Given the description of an element on the screen output the (x, y) to click on. 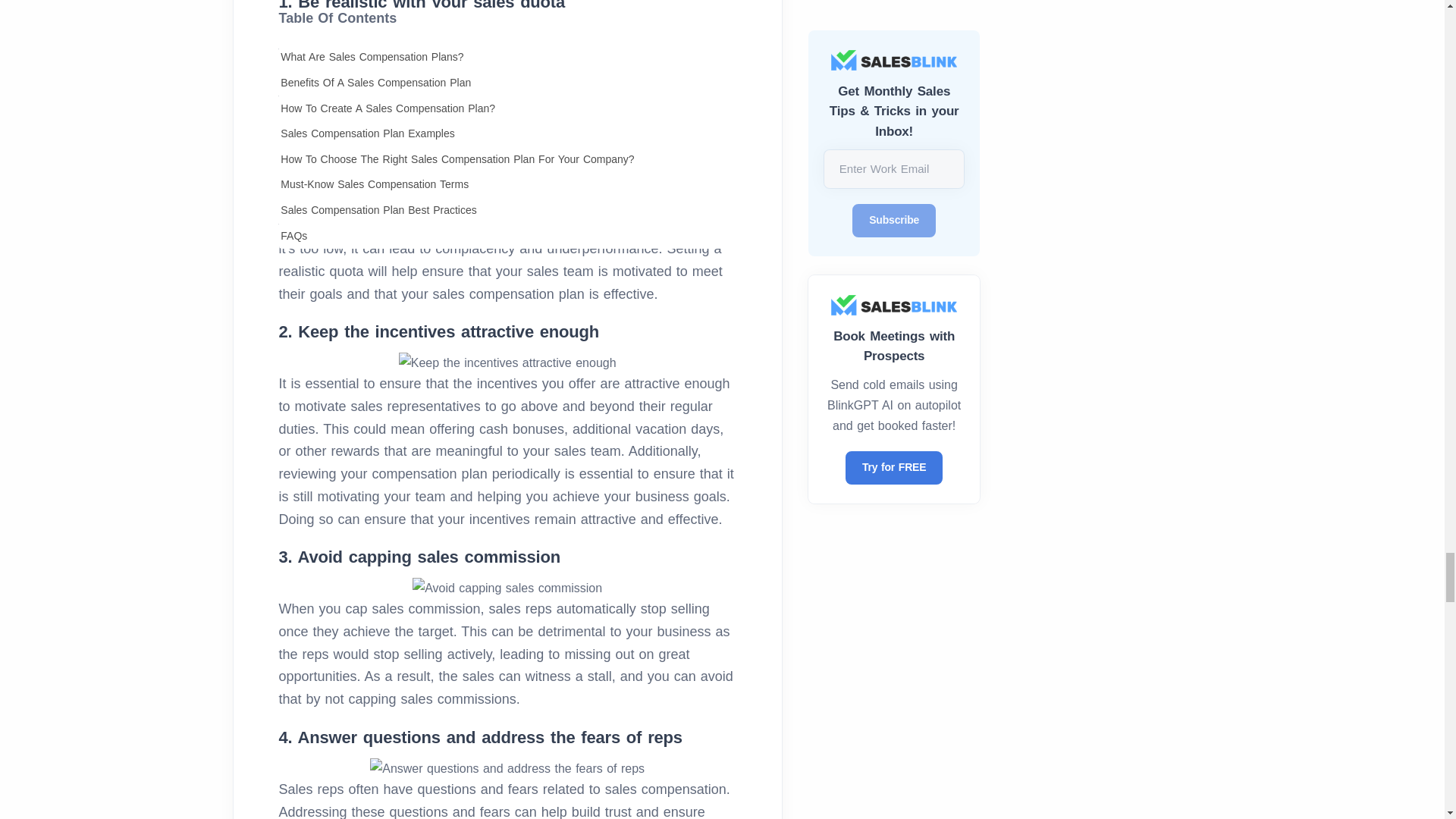
Keep the incentives attractive enough (506, 362)
Avoid capping sales commission (507, 588)
Answer questions and address the fears of reps (507, 768)
Be realistic with your sales quota (507, 32)
